Given the description of an element on the screen output the (x, y) to click on. 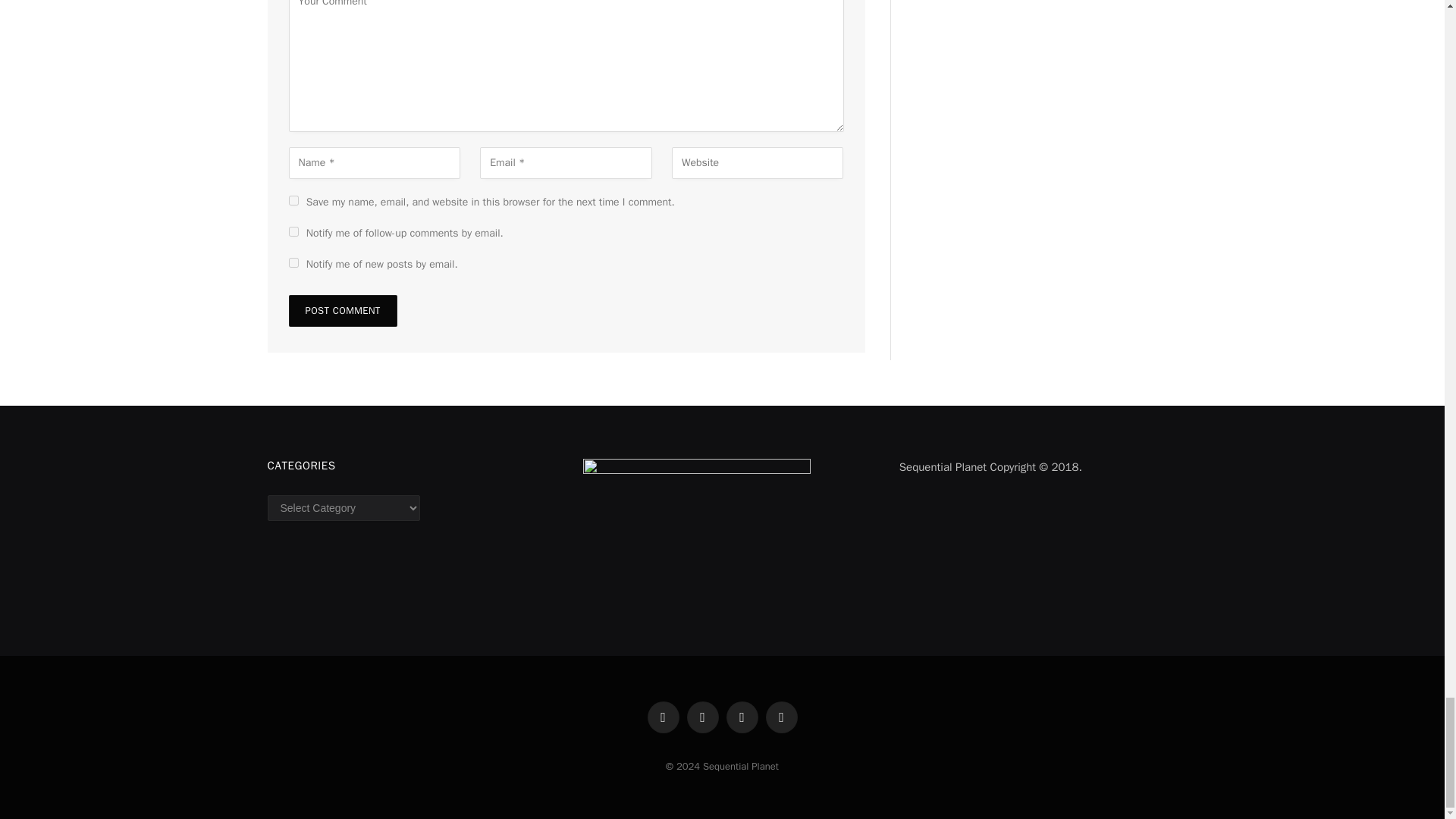
yes (293, 199)
subscribe (293, 261)
subscribe (293, 231)
Post Comment (342, 310)
